Given the description of an element on the screen output the (x, y) to click on. 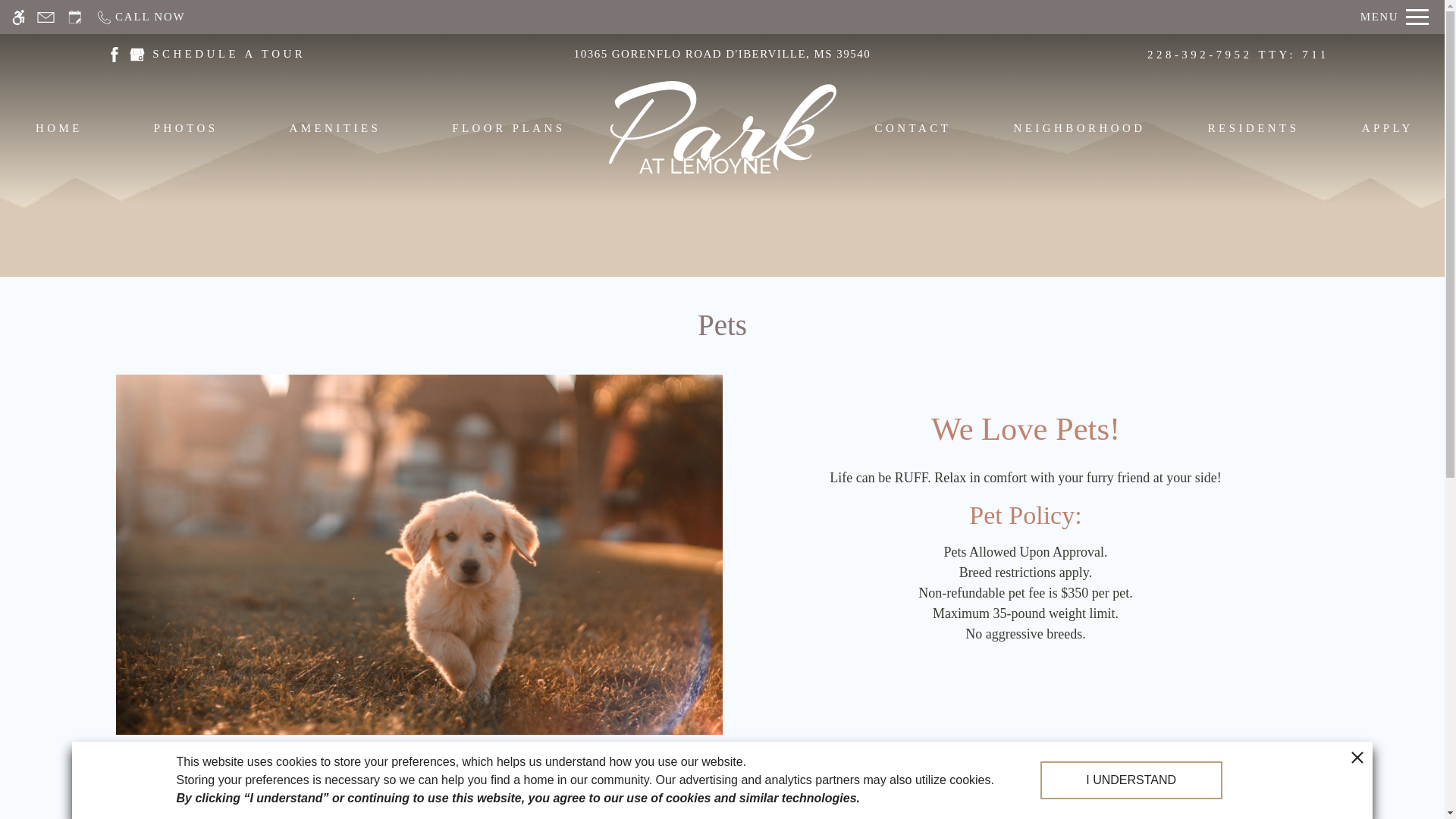
CALL NOW (140, 17)
Accessible screen reader (18, 17)
Open Full Menu (1394, 17)
Contact page (45, 17)
Request an appointment (74, 17)
10365 GORENFLO ROAD D'IBERVILLE, MS 39540 (721, 53)
SCHEDULE A TOUR (228, 53)
HOME (58, 131)
Call now (140, 17)
MENU (1394, 17)
CONTACT (913, 131)
RESIDENTS (1254, 131)
PHOTOS (186, 131)
AMENITIES (334, 131)
